Given the description of an element on the screen output the (x, y) to click on. 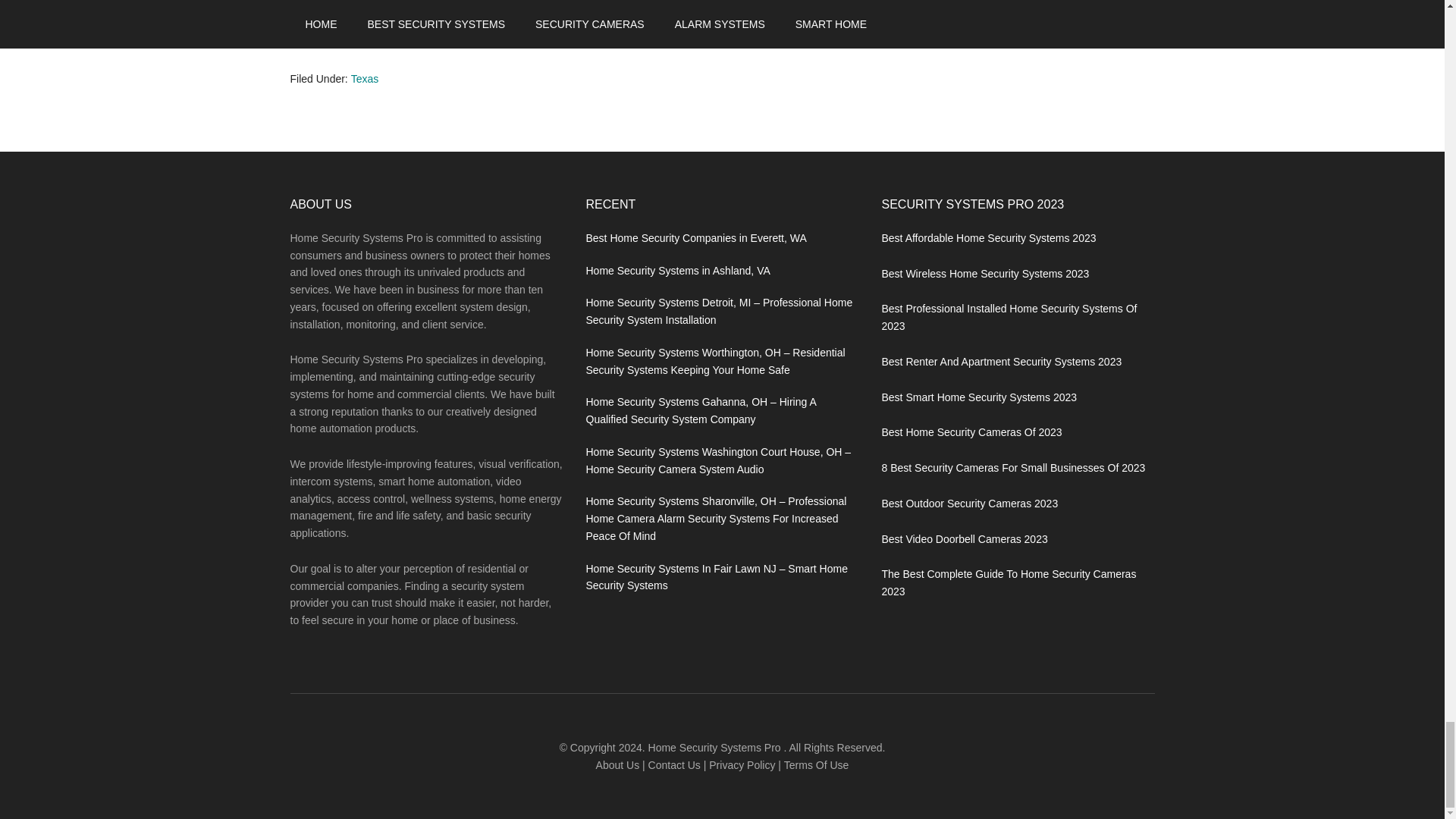
Home Security Camera System POE (419, 41)
Home Security Systems in Ashland, VA (677, 269)
Home Perimeter Security Systems (412, 4)
Home Window Security Alarms (403, 21)
Texas (364, 78)
Best Home Security Companies in Everett, WA (695, 237)
